Given the description of an element on the screen output the (x, y) to click on. 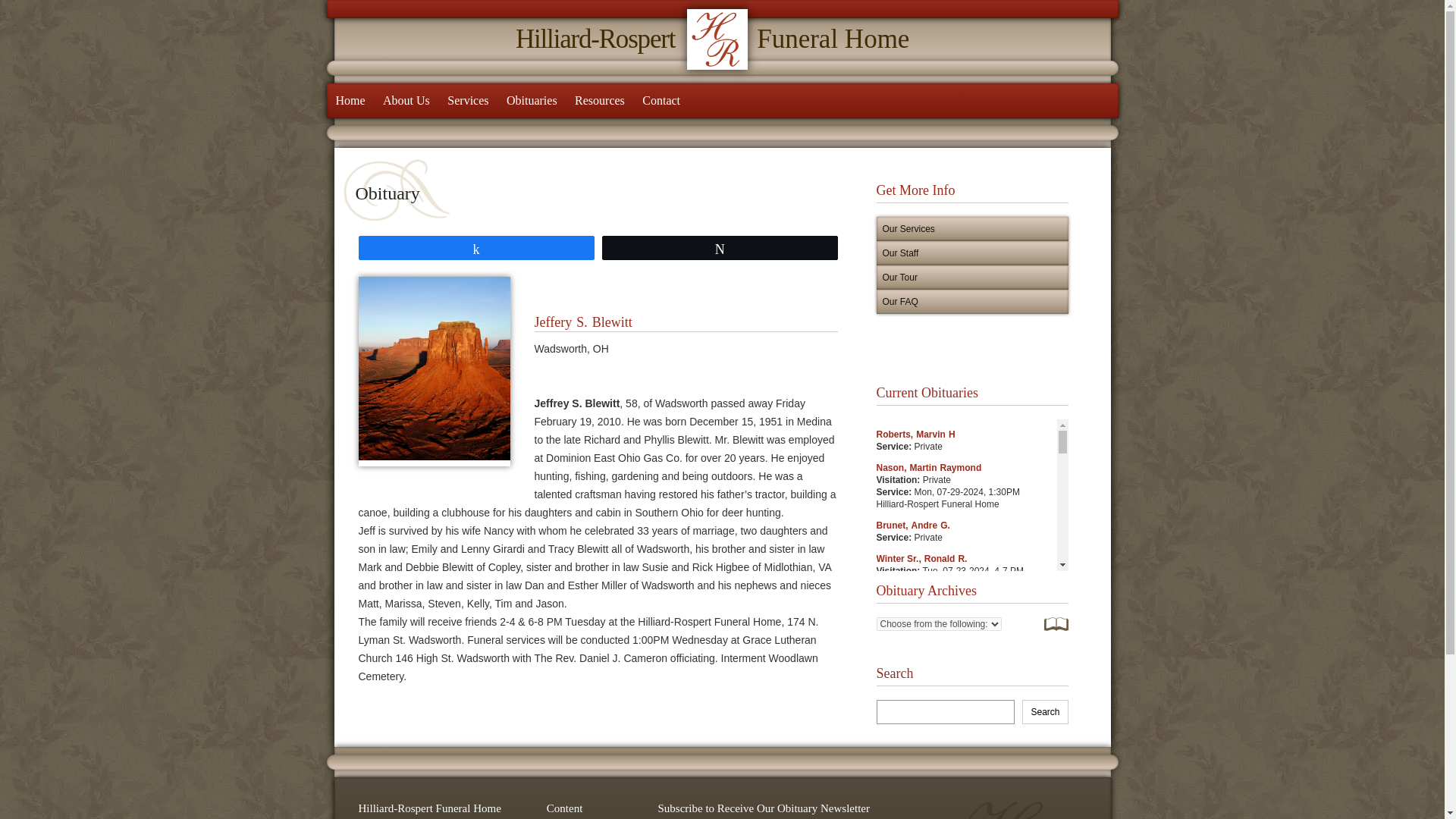
Our Tour (972, 277)
Our Services (972, 228)
Our FAQ (721, 39)
Our Staff (972, 301)
